Given the description of an element on the screen output the (x, y) to click on. 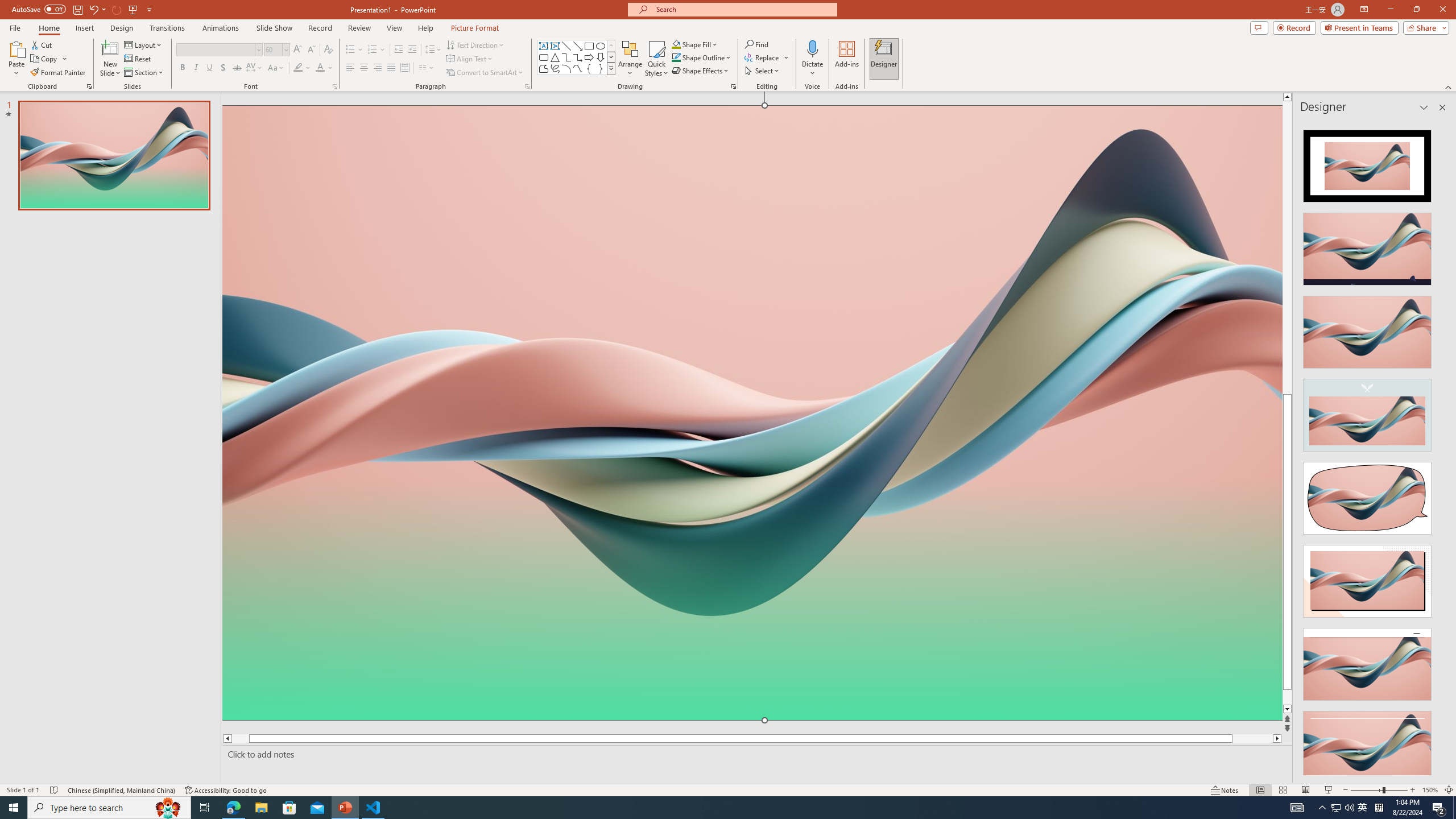
Wavy 3D art (752, 412)
